Given the description of an element on the screen output the (x, y) to click on. 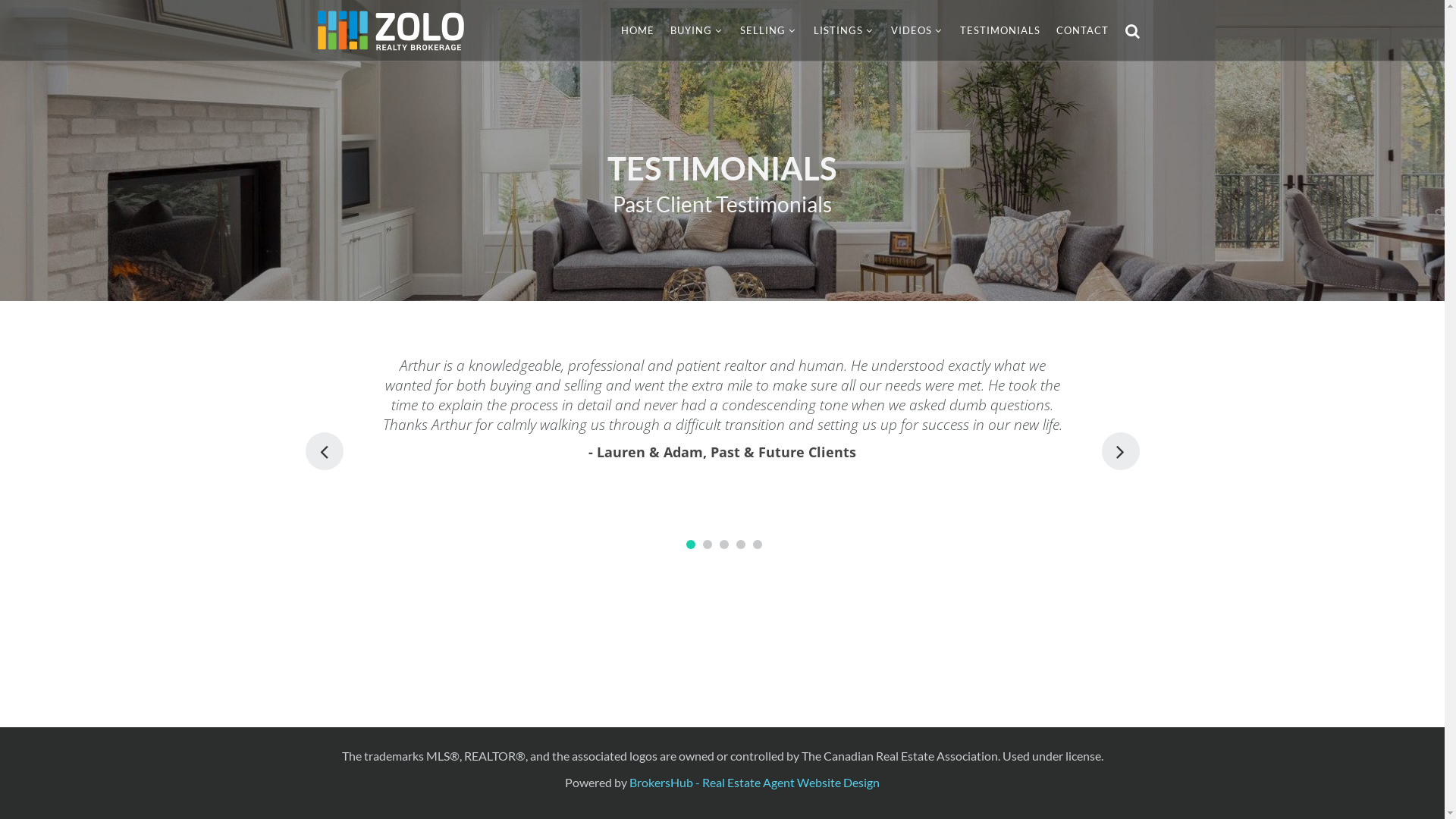
VIDEOS Element type: text (916, 30)
2 Element type: text (707, 544)
TESTIMONIALS Element type: text (1000, 30)
3 Element type: text (723, 544)
4 Element type: text (740, 544)
BrokersHub - Real Estate Agent Website Design Element type: text (754, 782)
LISTINGS Element type: text (843, 30)
CONTACT Element type: text (1081, 30)
BUYING Element type: text (696, 30)
5 Element type: text (757, 544)
HOME Element type: text (636, 30)
1 Element type: text (690, 544)
SELLING Element type: text (768, 30)
